Given the description of an element on the screen output the (x, y) to click on. 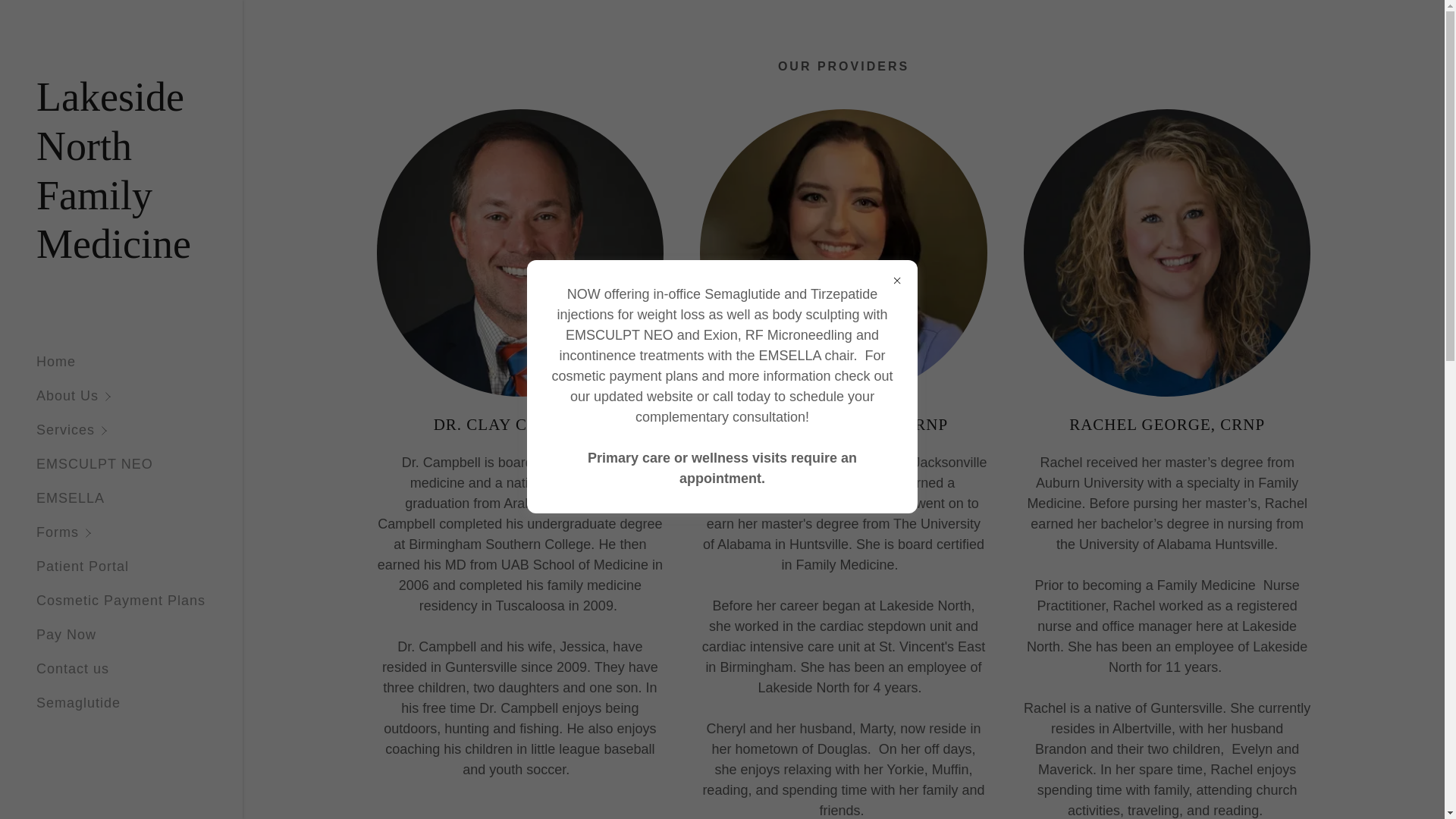
Patient Portal (82, 566)
Forms (139, 532)
Cosmetic Payment Plans (120, 600)
Pay Now (66, 634)
EMSELLA (70, 498)
About Us (139, 396)
Semaglutide (78, 702)
EMSCULPT NEO (94, 463)
Lakeside North Family Medicine (121, 253)
Contact us (72, 668)
